Given the description of an element on the screen output the (x, y) to click on. 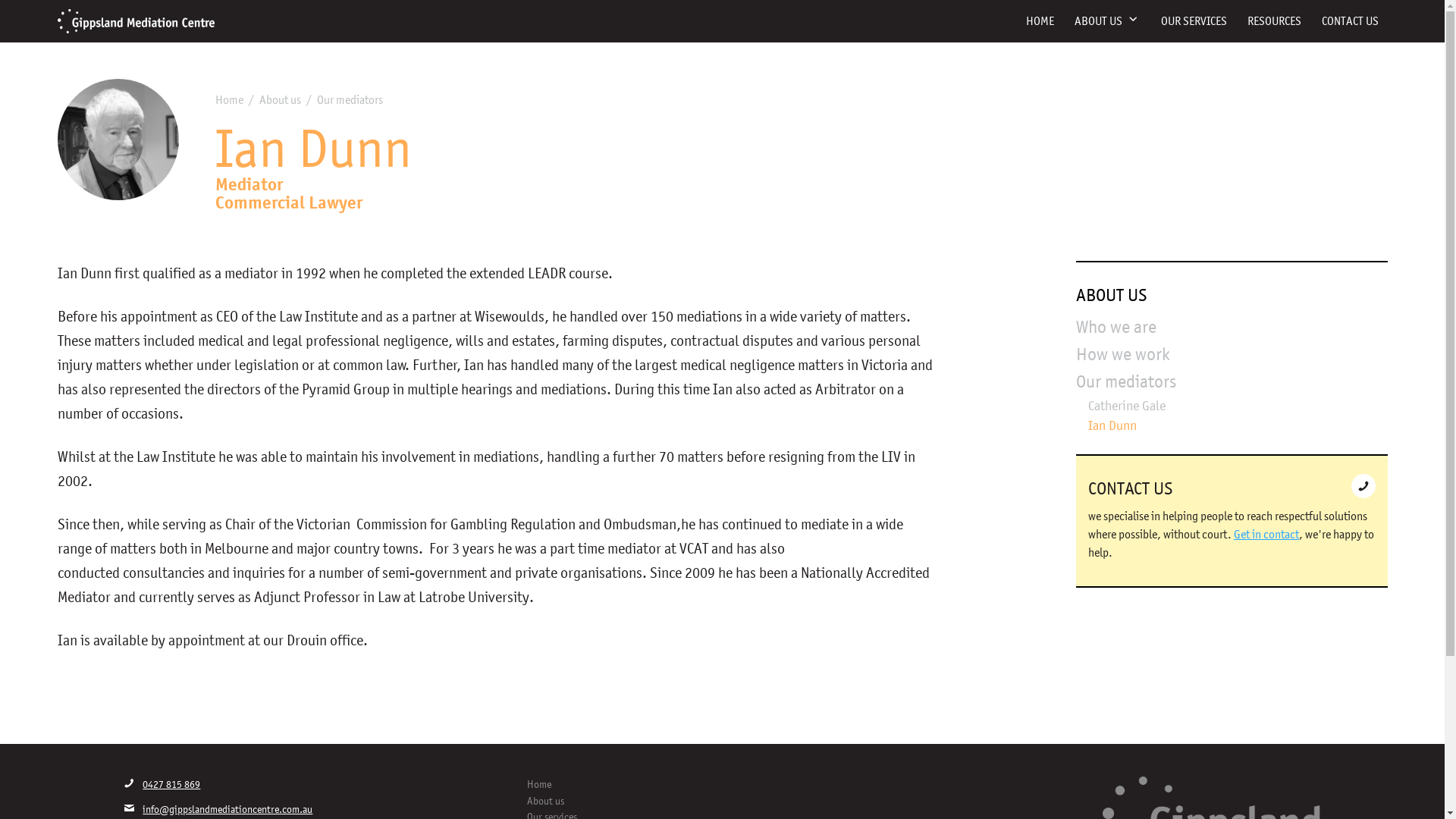
Ian Dunn Element type: text (1112, 425)
HOME Element type: text (1039, 21)
About us Element type: text (720, 801)
Who we are Element type: text (1116, 326)
About us Element type: text (280, 99)
How we work Element type: text (1123, 354)
ABOUT US Element type: text (1106, 21)
RESOURCES Element type: text (1273, 21)
OUR SERVICES Element type: text (1193, 21)
Our mediators Element type: text (349, 99)
CONTACT US Element type: text (1348, 21)
0427 815 869 Element type: text (161, 784)
Home Element type: text (720, 784)
Catherine Gale Element type: text (1126, 405)
Skip to content Element type: text (0, 0)
ABOUT US Element type: text (1111, 295)
Get in contact Element type: text (1266, 534)
Our mediators Element type: text (1126, 381)
Home Element type: text (229, 99)
info@gippslandmediationcentre.com.au Element type: text (217, 809)
